Given the description of an element on the screen output the (x, y) to click on. 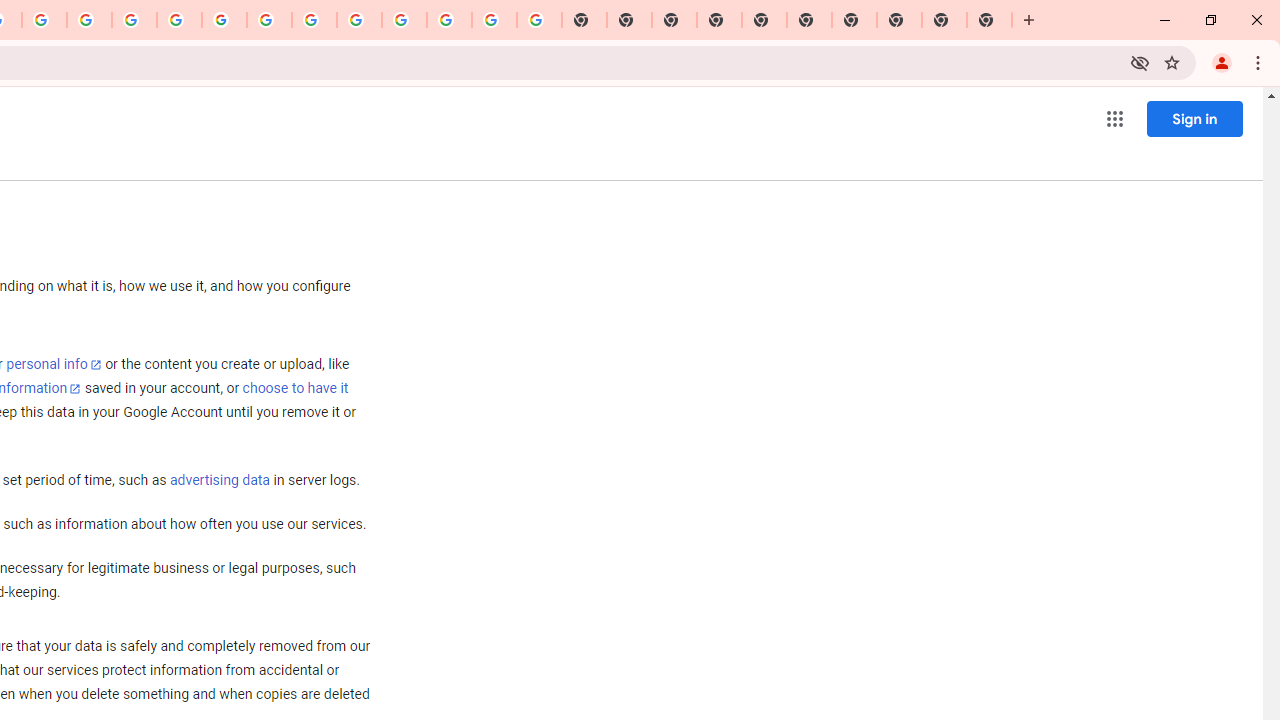
New Tab (989, 20)
Google Images (539, 20)
